Given the description of an element on the screen output the (x, y) to click on. 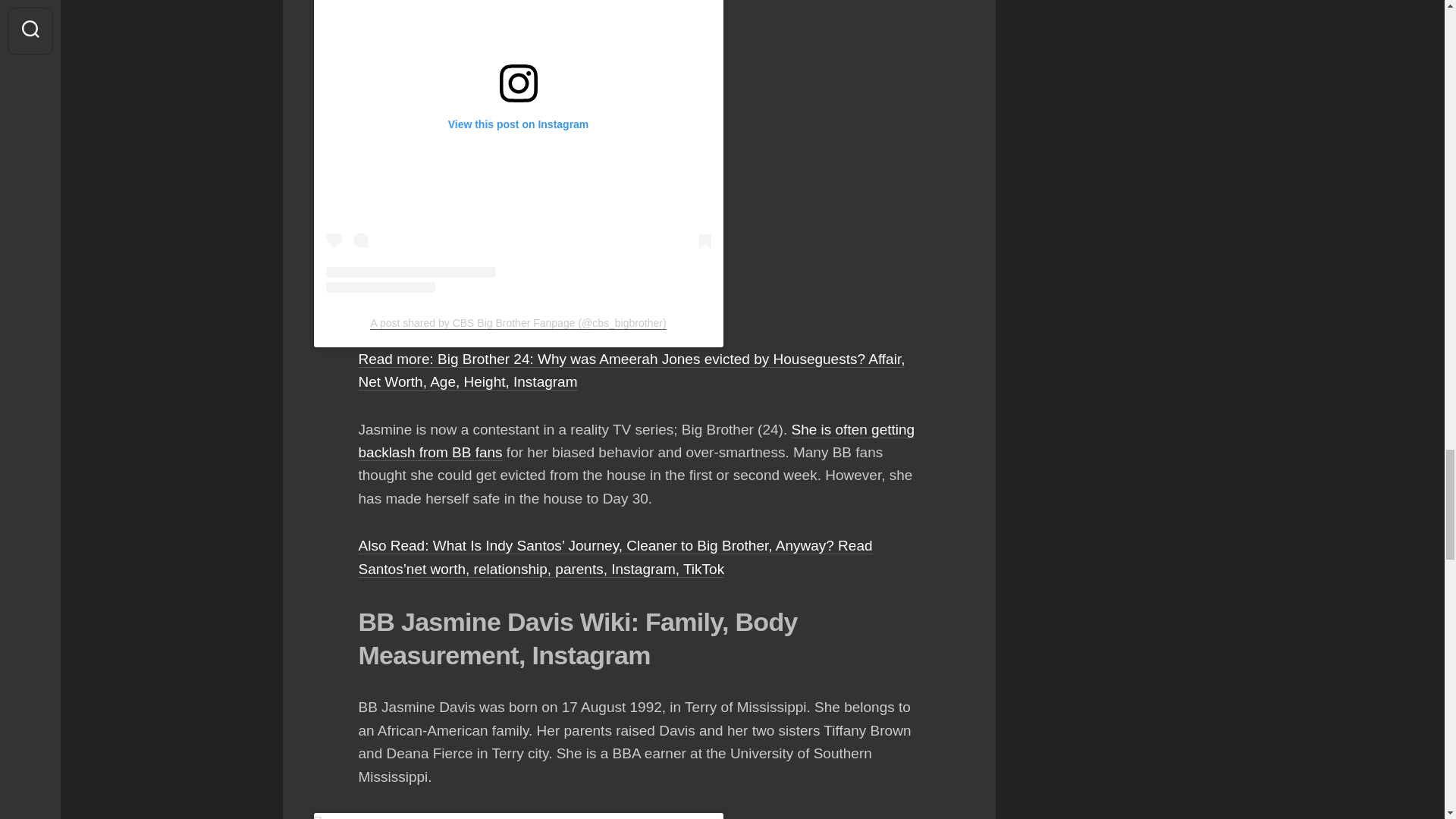
She is often getting backlash from BB fans (636, 440)
View this post on Instagram (518, 146)
